Given the description of an element on the screen output the (x, y) to click on. 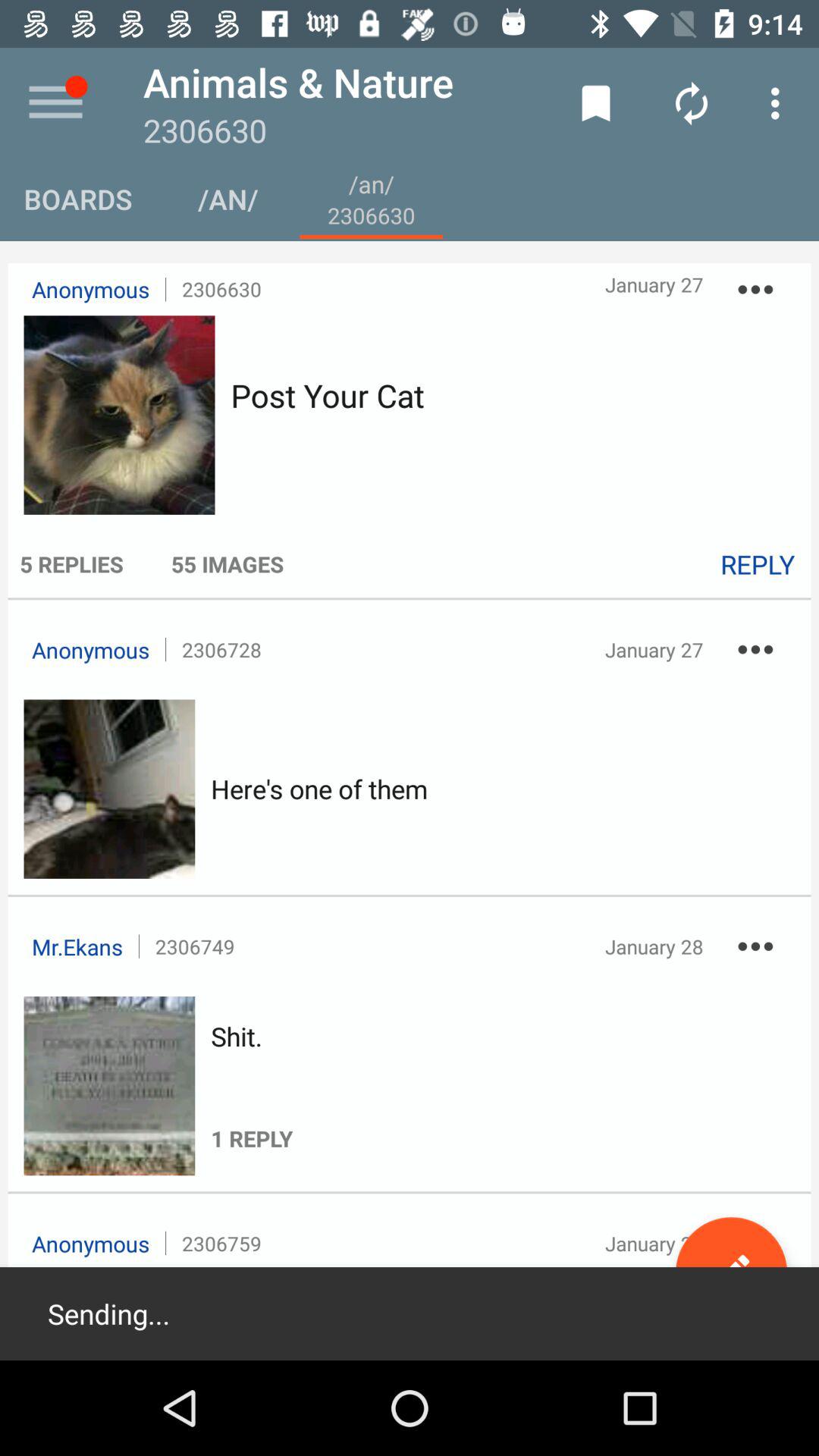
menu option (55, 103)
